Given the description of an element on the screen output the (x, y) to click on. 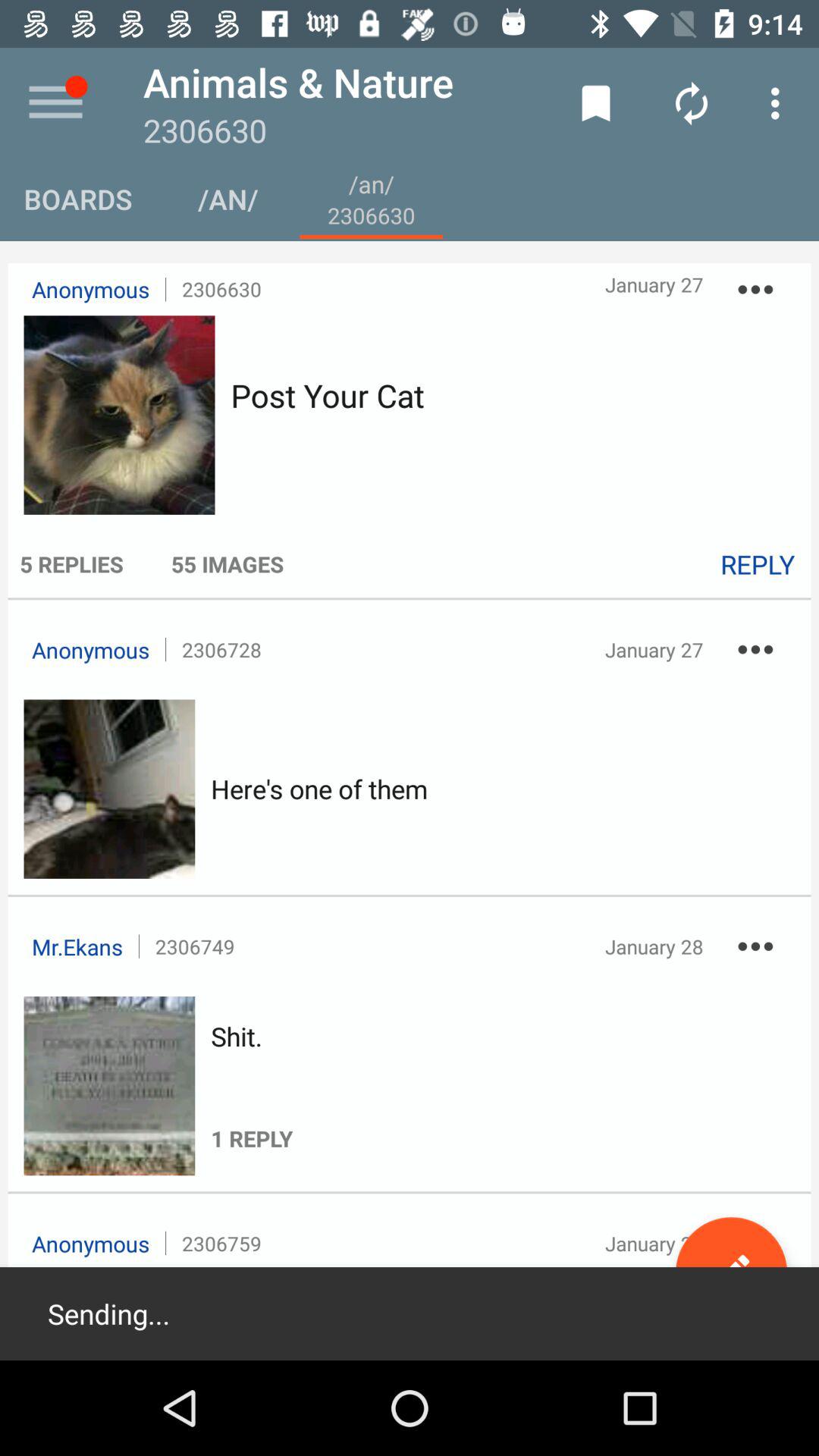
menu option (55, 103)
